Given the description of an element on the screen output the (x, y) to click on. 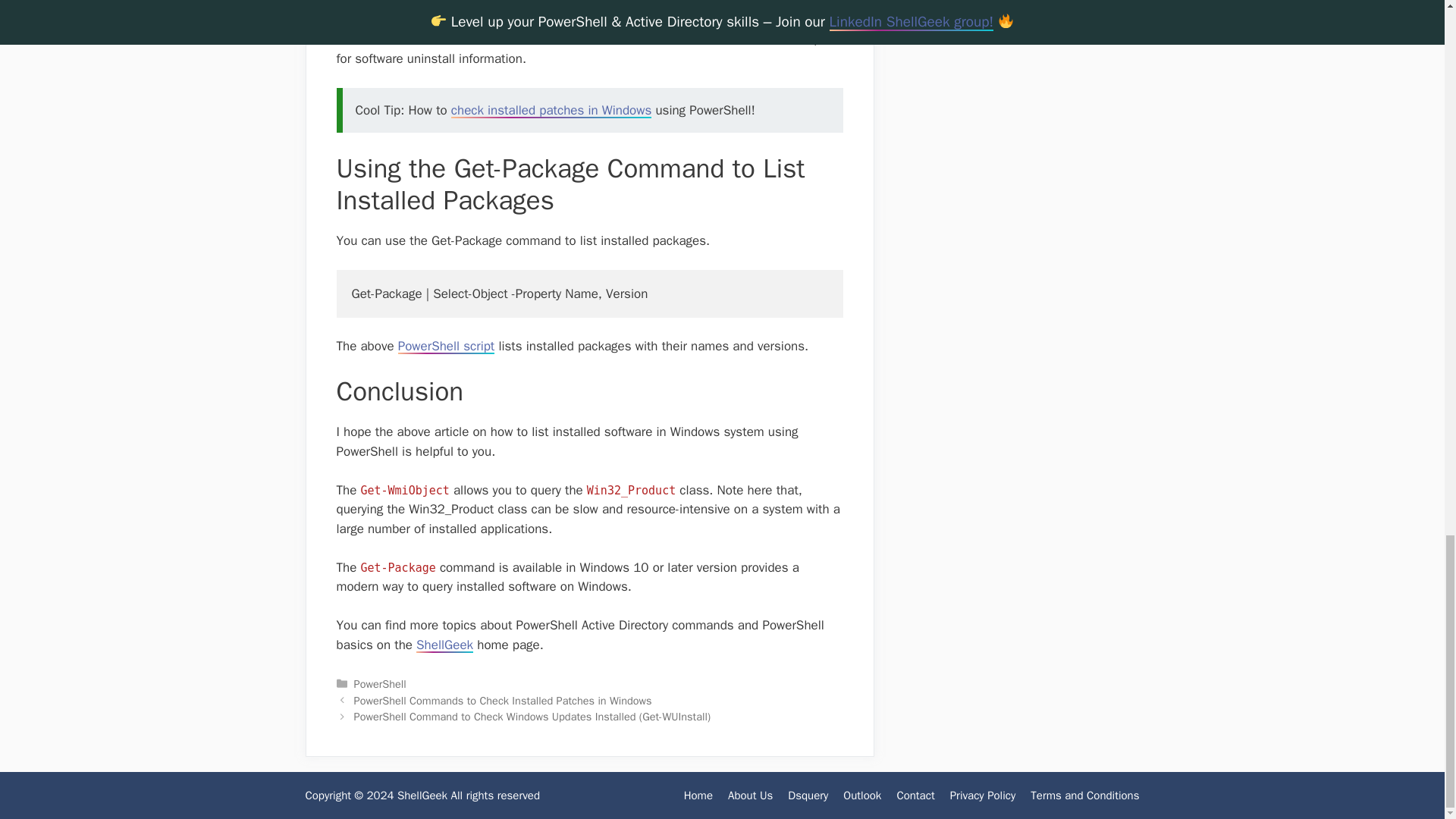
check installed patches in Windows (550, 109)
Home (698, 795)
PowerShell Commands to Check Installed Patches in Windows (502, 700)
Privacy Policy (983, 795)
Outlook (861, 795)
Dsquery (807, 795)
About Us (750, 795)
ShellGeek (444, 644)
PowerShell script (446, 345)
PowerShell (379, 684)
